Given the description of an element on the screen output the (x, y) to click on. 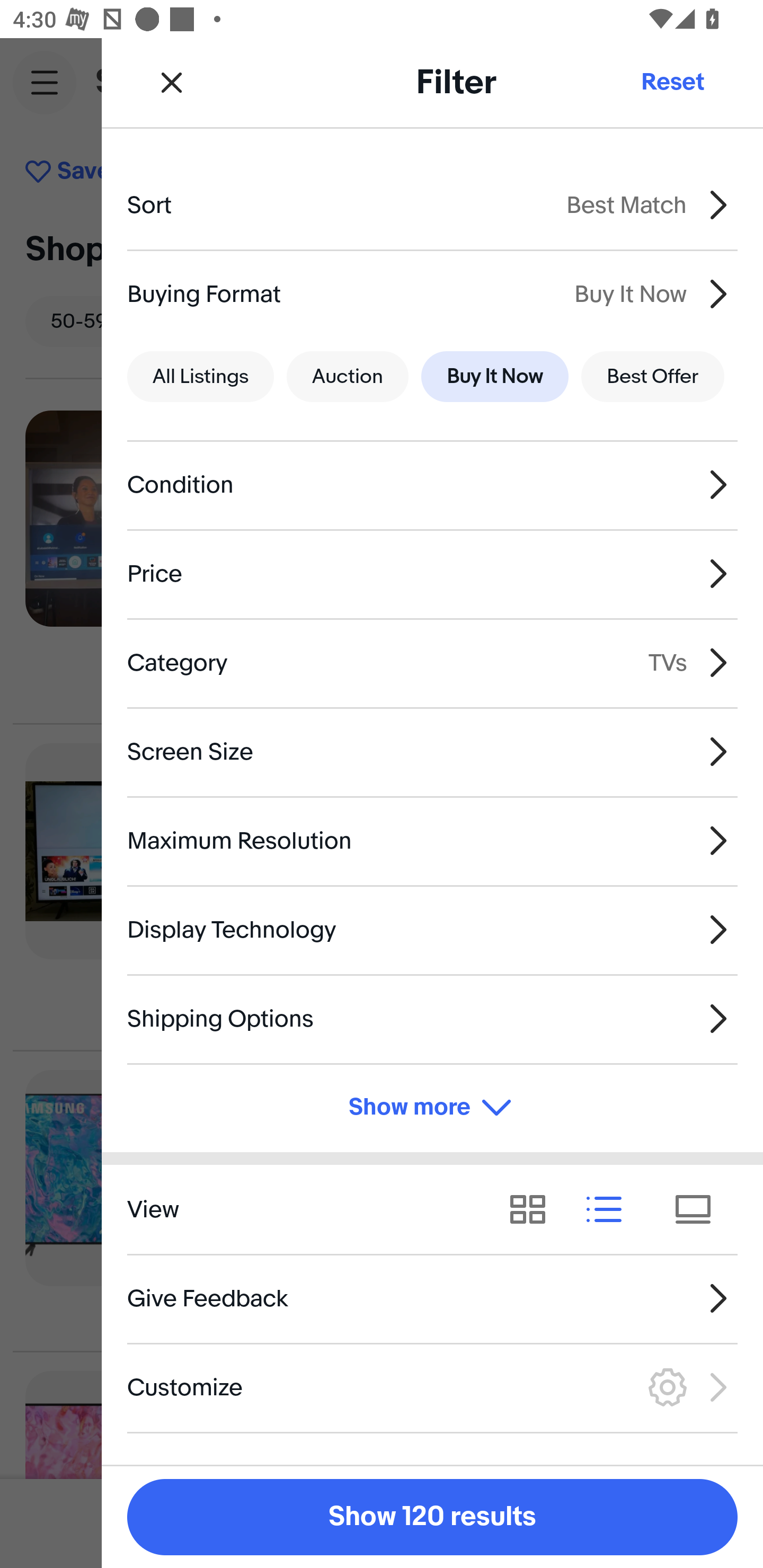
Close Filter (171, 81)
Reset (672, 81)
Buying Format Buy It Now (432, 293)
All Listings (200, 376)
Auction (347, 376)
Buy It Now (494, 376)
Best Offer (652, 376)
Condition (432, 484)
Price (432, 573)
Category TVs (432, 662)
Screen Size (432, 751)
Maximum Resolution (432, 840)
Display Technology (432, 929)
Shipping Options (432, 1018)
Show more (432, 1107)
View results as grid (533, 1209)
View results as list (610, 1209)
View results as tiles (699, 1209)
Customize (432, 1386)
Show 120 results (432, 1516)
